Given the description of an element on the screen output the (x, y) to click on. 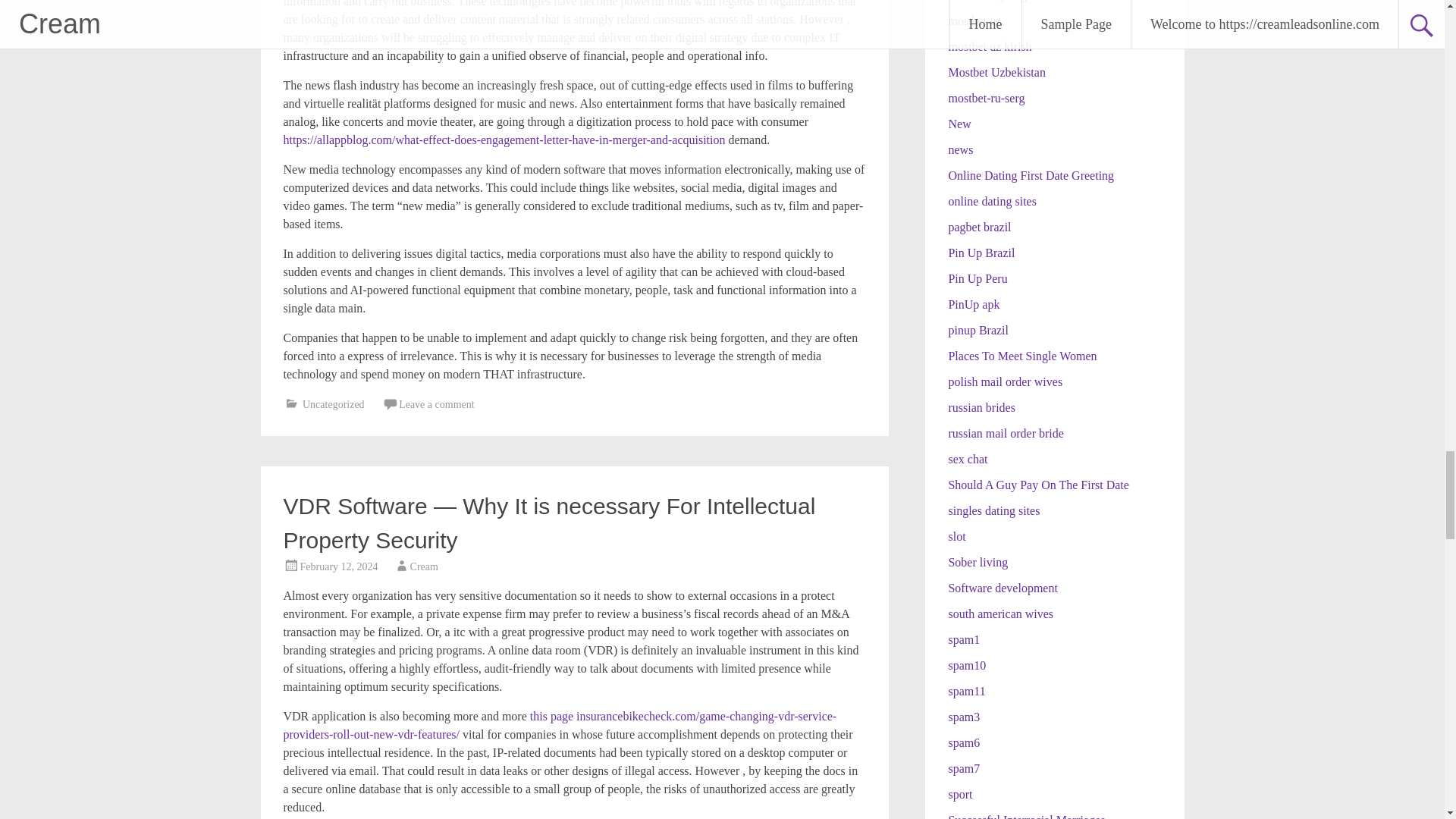
Uncategorized (333, 404)
Leave a comment (436, 404)
February 12, 2024 (338, 566)
